Given the description of an element on the screen output the (x, y) to click on. 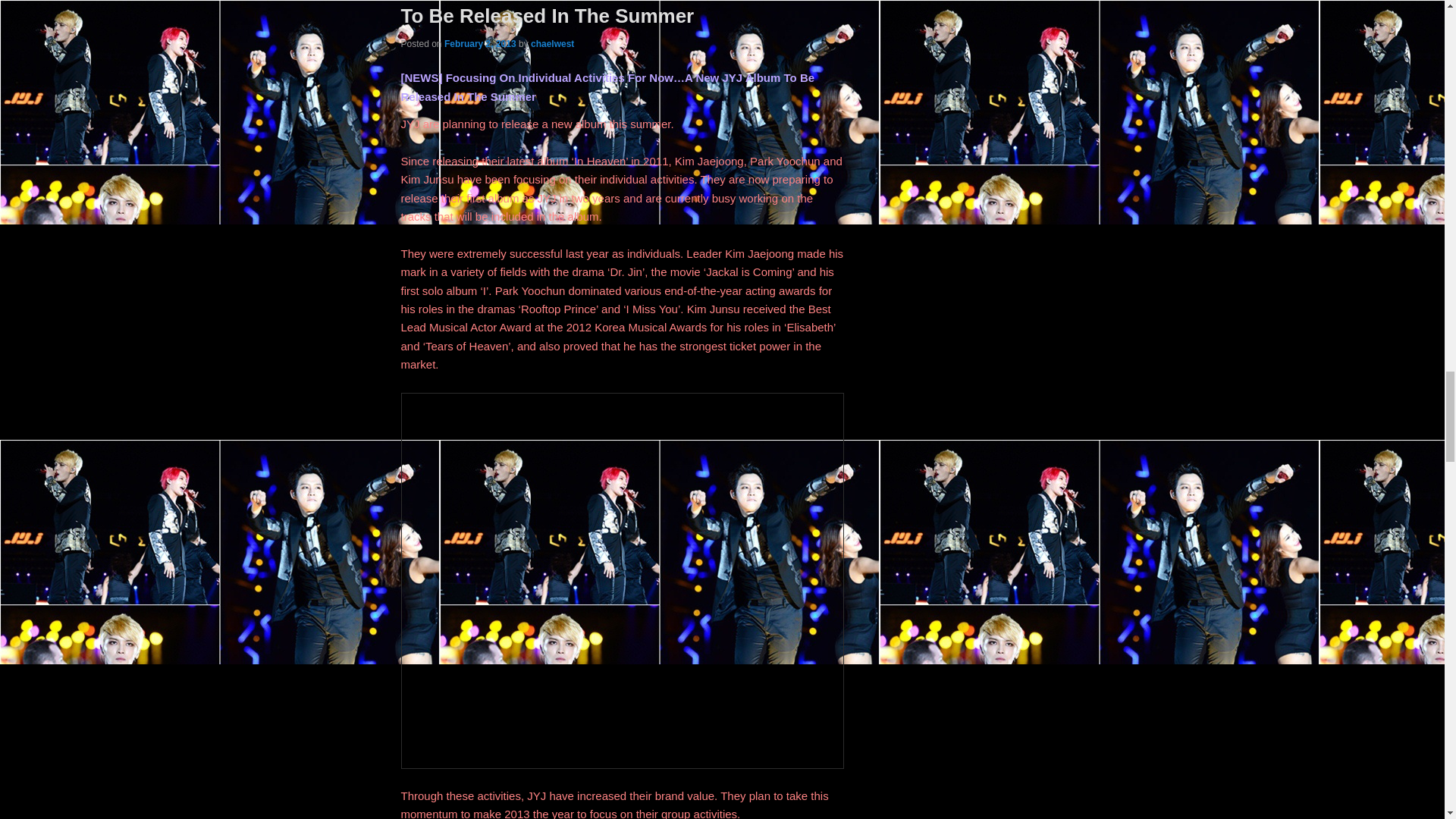
View all posts by chaelwest (552, 43)
6:51 pm (480, 43)
